Given the description of an element on the screen output the (x, y) to click on. 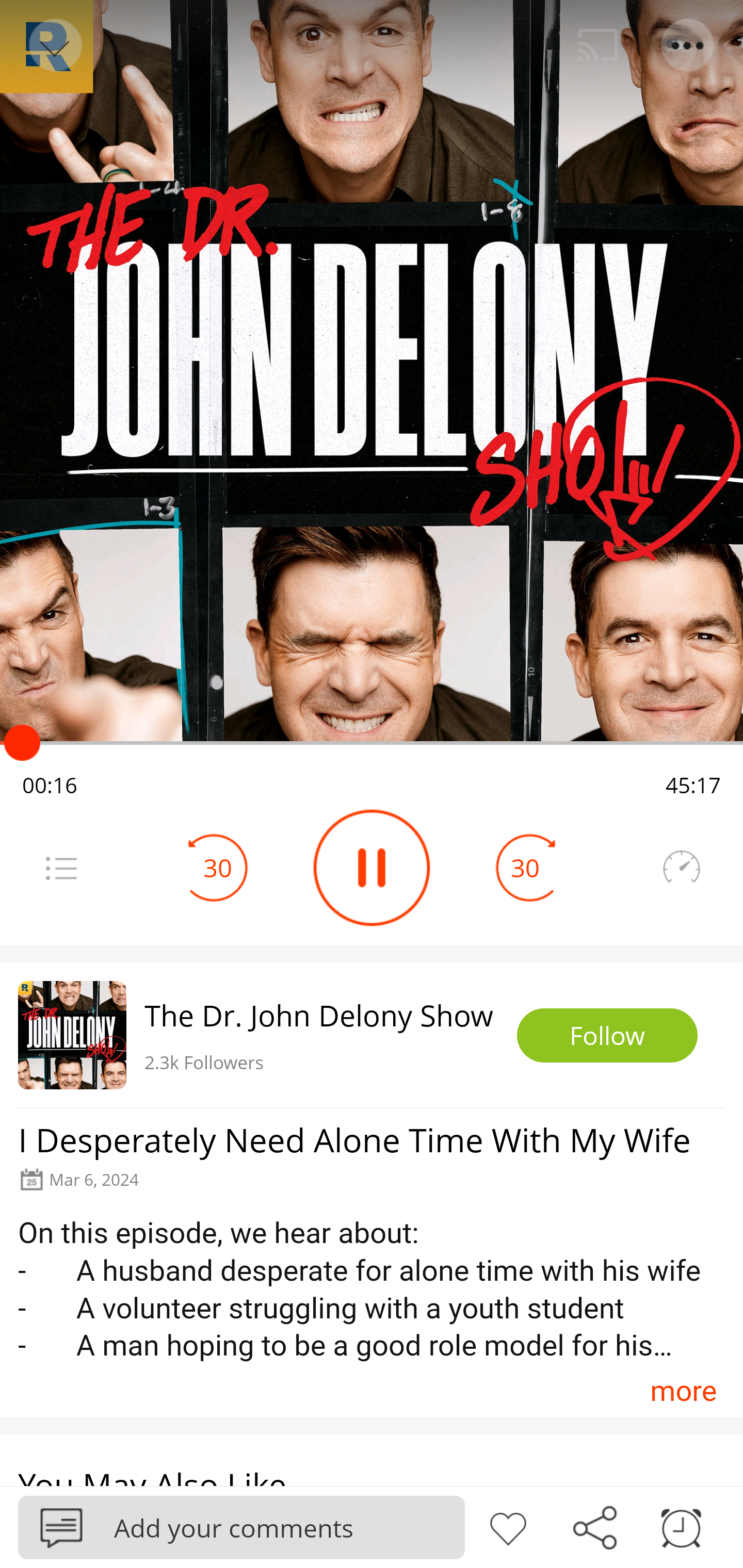
Back (53, 45)
Cast. Disconnected (597, 45)
Menu (688, 45)
Play (371, 867)
30 Seek Backward (217, 867)
30 Seek Forward (525, 867)
Menu (60, 867)
Speedometer (681, 867)
The Dr. John Delony Show 2.3k Followers Follow (371, 1034)
Follow (607, 1035)
more (682, 1390)
Like (508, 1526)
Share (594, 1526)
Sleep timer (681, 1526)
Podbean Add your comments (241, 1526)
